Given the description of an element on the screen output the (x, y) to click on. 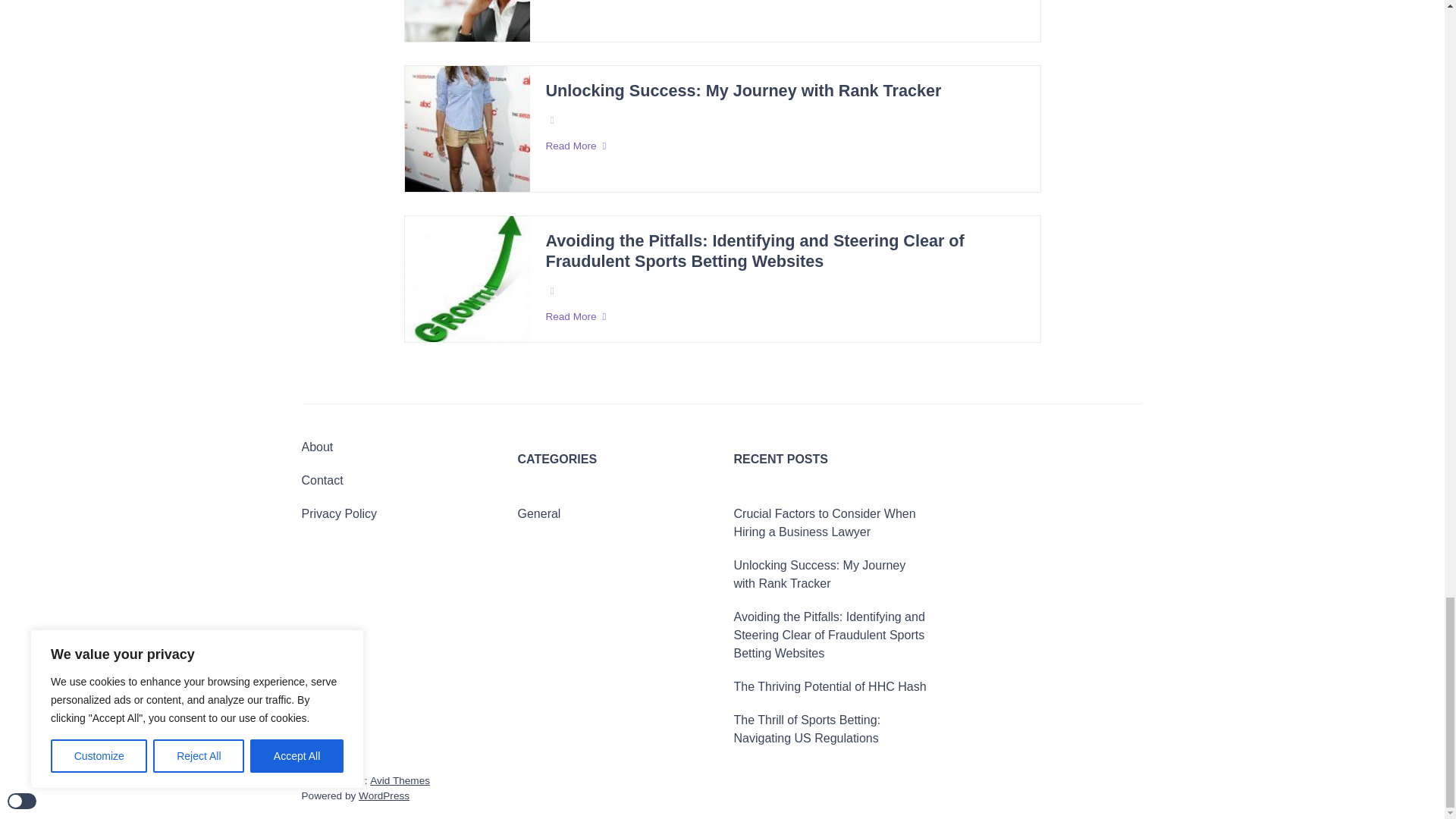
Unlocking Success: My Journey with Rank Tracker (742, 91)
Read More (784, 145)
